Given the description of an element on the screen output the (x, y) to click on. 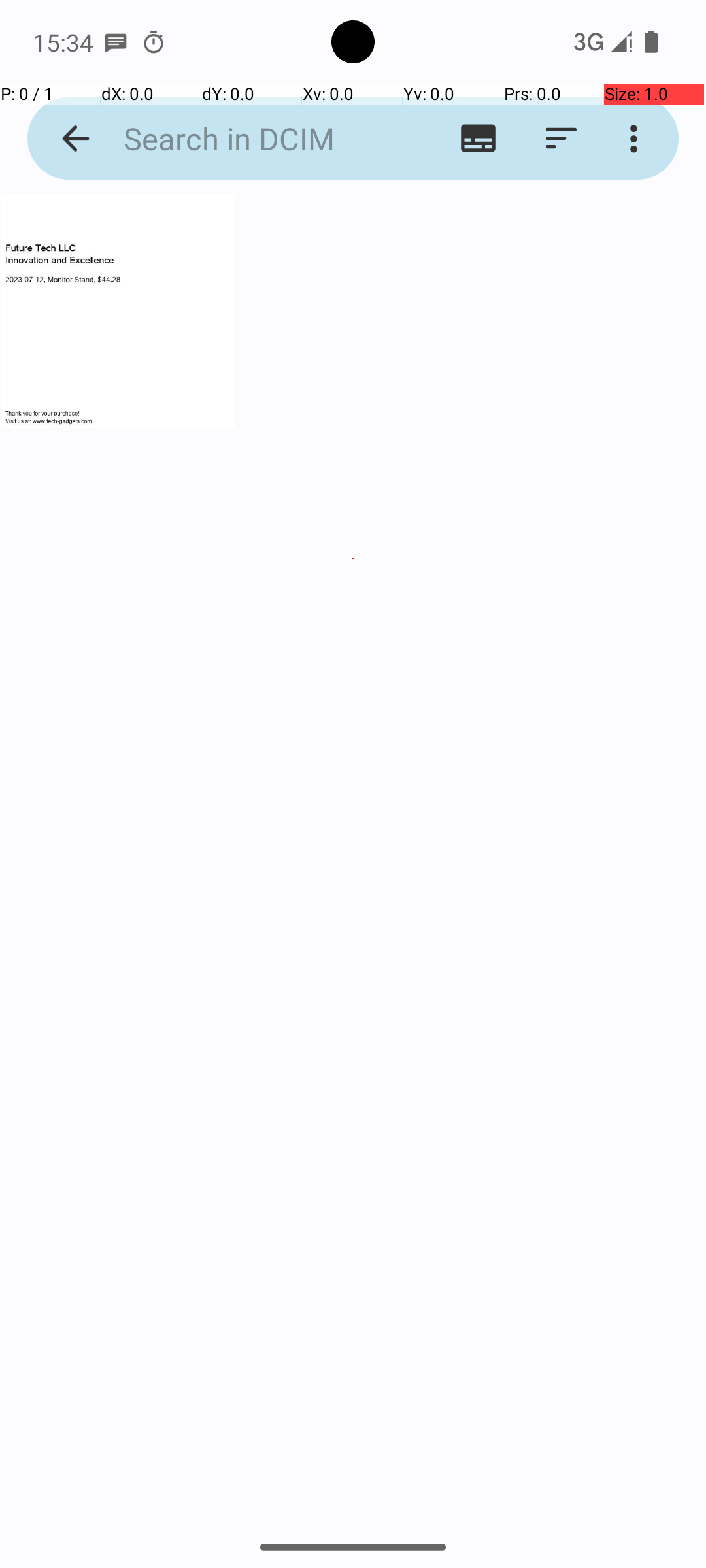
Search in DCIM Element type: android.widget.EditText (252, 138)
